Given the description of an element on the screen output the (x, y) to click on. 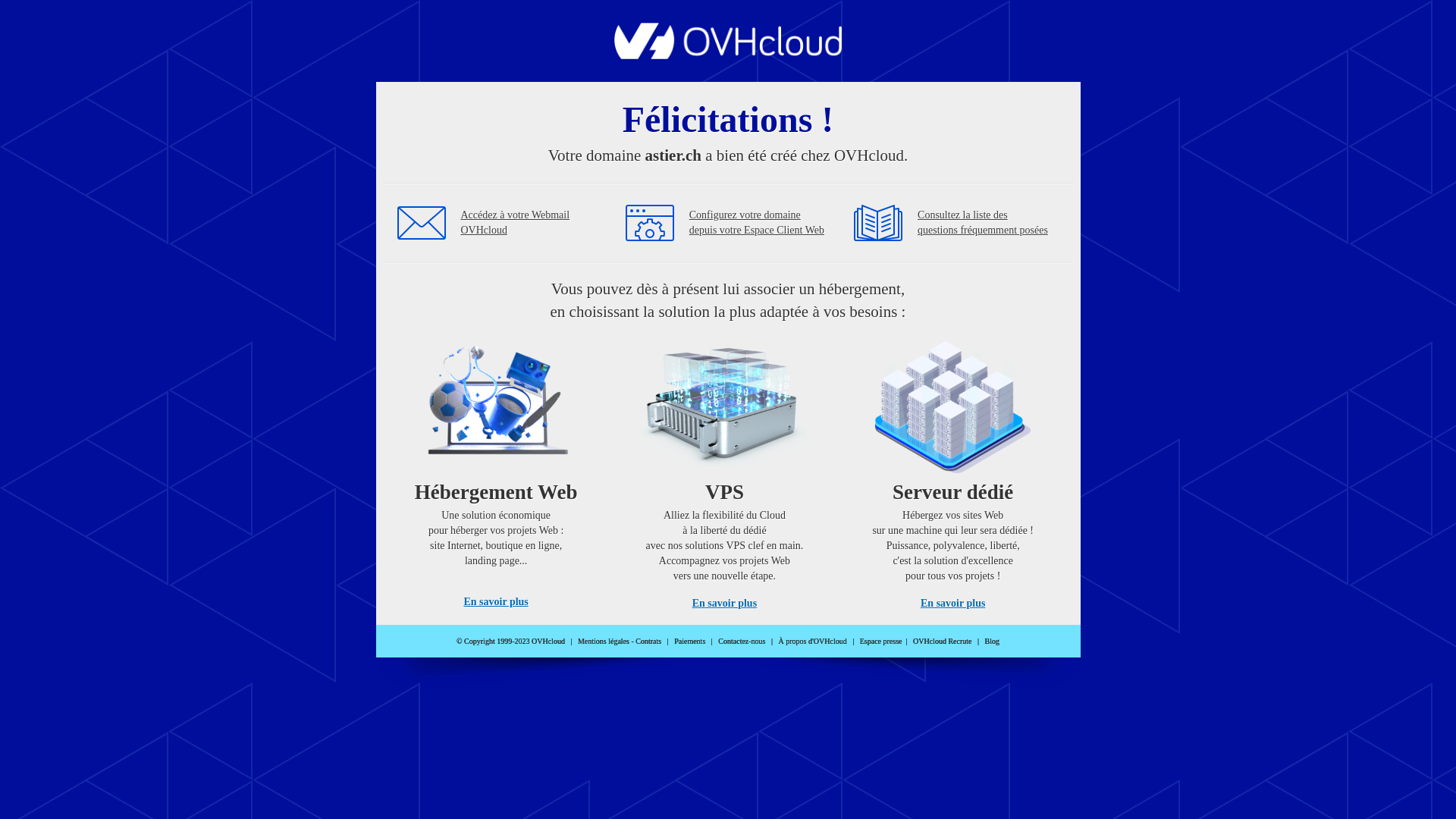
Contactez-nous Element type: text (741, 641)
En savoir plus Element type: text (952, 602)
En savoir plus Element type: text (495, 601)
OVHcloud Element type: hover (727, 54)
Configurez votre domaine
depuis votre Espace Client Web Element type: text (756, 222)
OVHcloud Recrute Element type: text (942, 641)
Espace presse Element type: text (880, 641)
Blog Element type: text (992, 641)
VPS Element type: hover (724, 469)
En savoir plus Element type: text (724, 602)
Paiements Element type: text (689, 641)
